Given the description of an element on the screen output the (x, y) to click on. 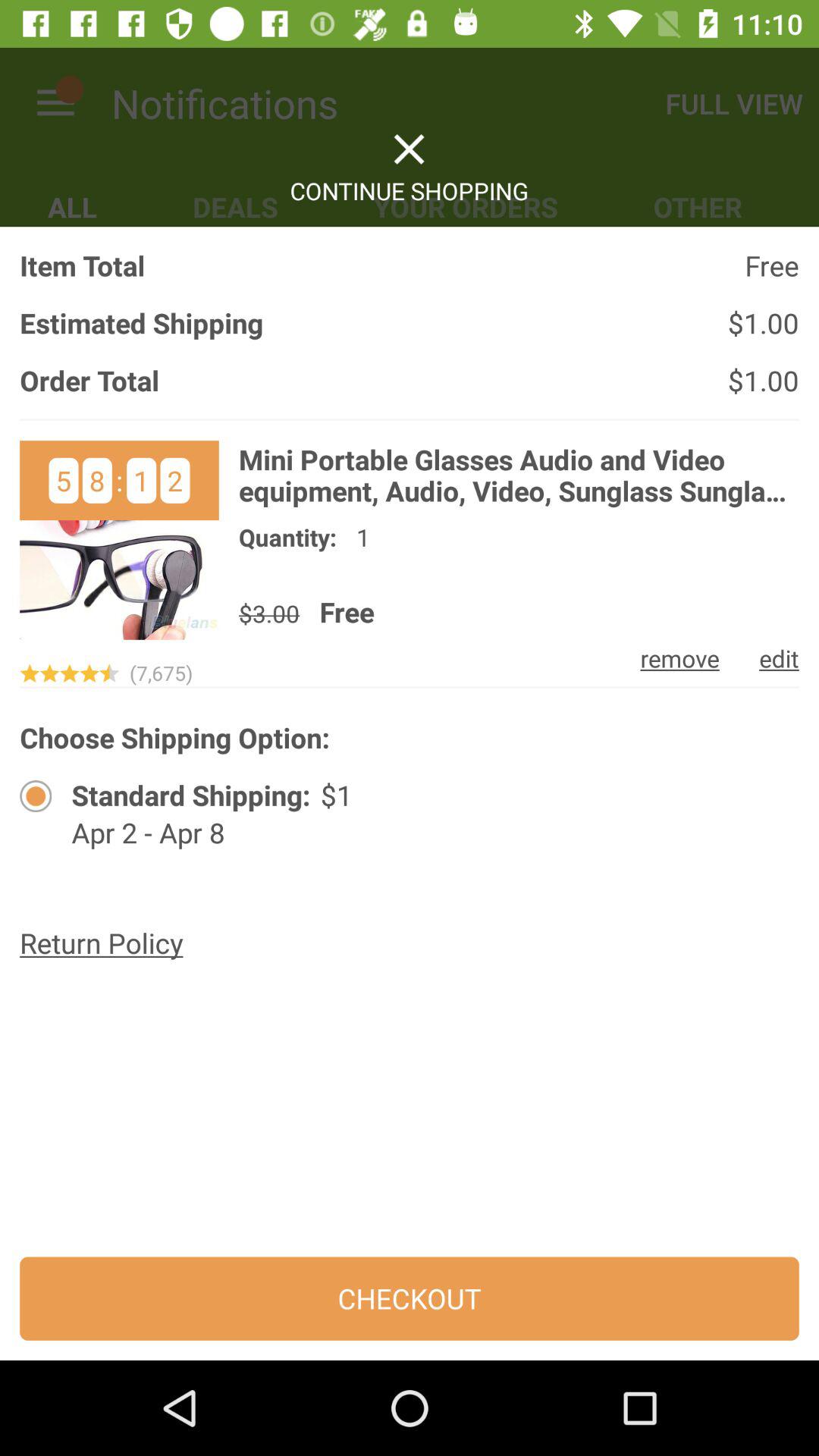
open item picture (118, 539)
